Given the description of an element on the screen output the (x, y) to click on. 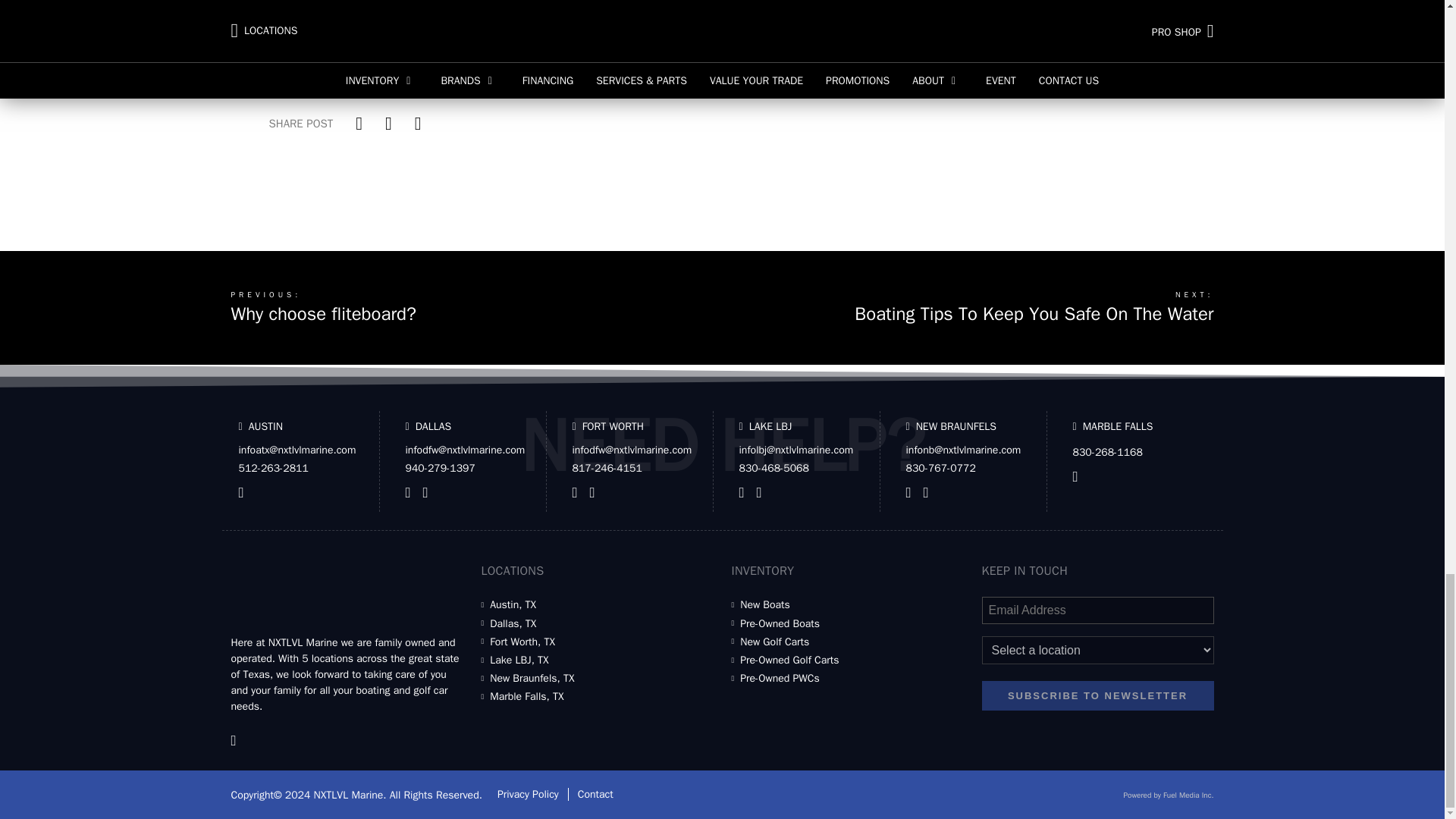
Subscribe to Newsletter (1096, 695)
